Given the description of an element on the screen output the (x, y) to click on. 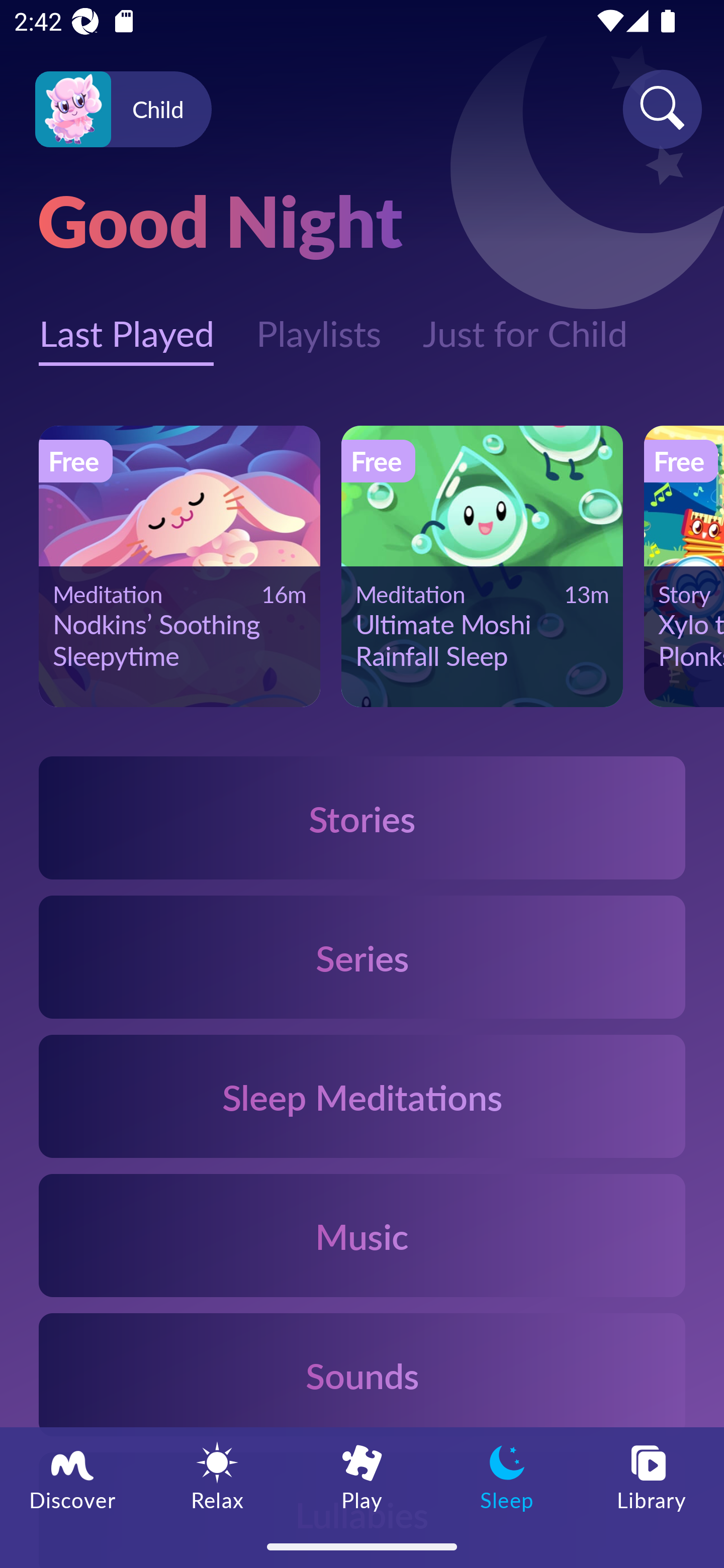
Profile icon Child (123, 109)
Playlists (317, 322)
Just for Child (524, 322)
Stories (361, 817)
Series (361, 957)
Sleep Meditations (361, 1096)
Music (361, 1234)
Sounds (361, 1374)
Discover (72, 1475)
Relax (216, 1475)
Play (361, 1475)
Library (651, 1475)
